Given the description of an element on the screen output the (x, y) to click on. 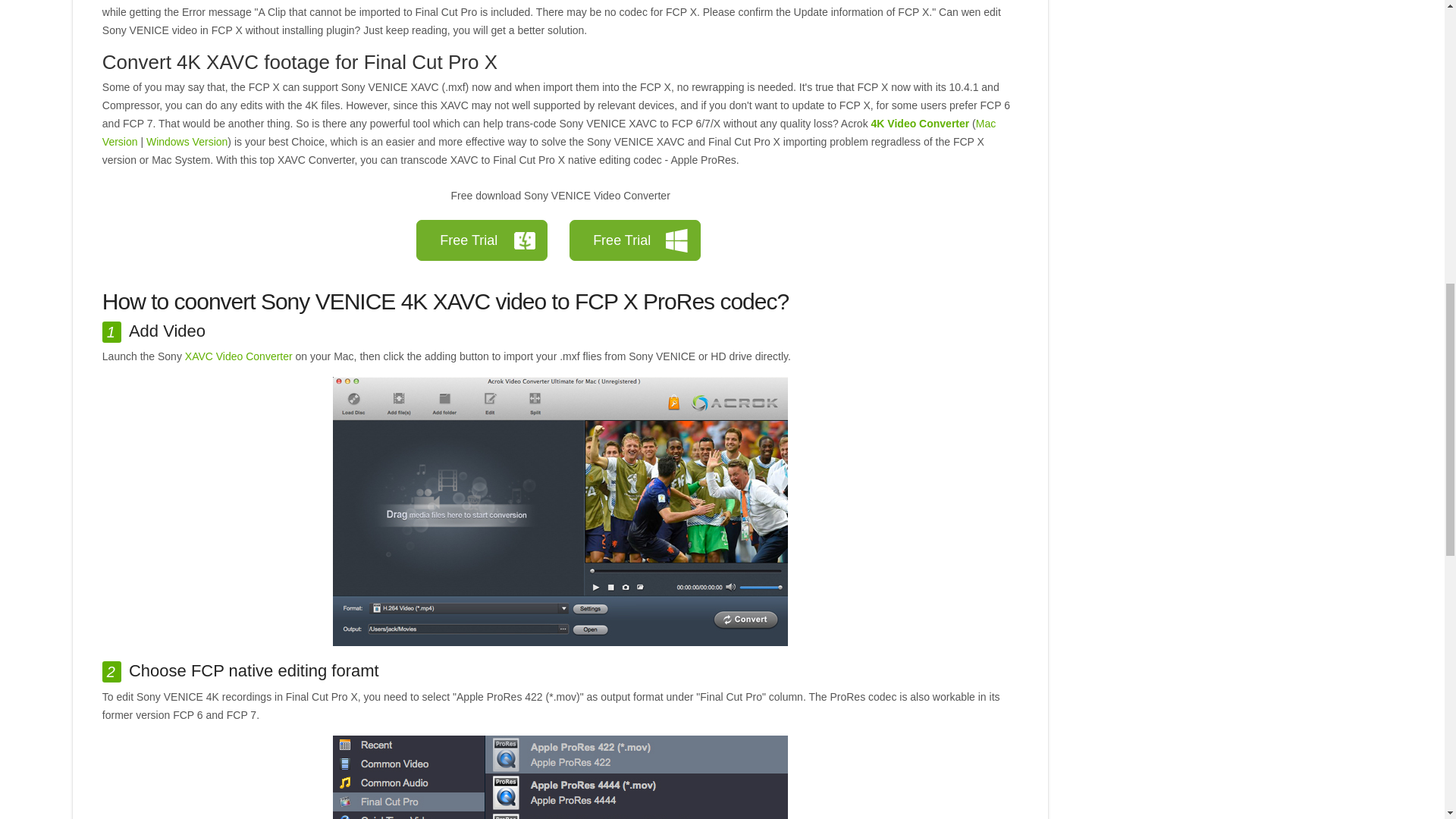
Free Trial (481, 240)
Mac Version (548, 132)
Windows Version (187, 141)
Free Trial (634, 240)
XAVC Video Converter (238, 356)
4K Video Converter (919, 123)
